Given the description of an element on the screen output the (x, y) to click on. 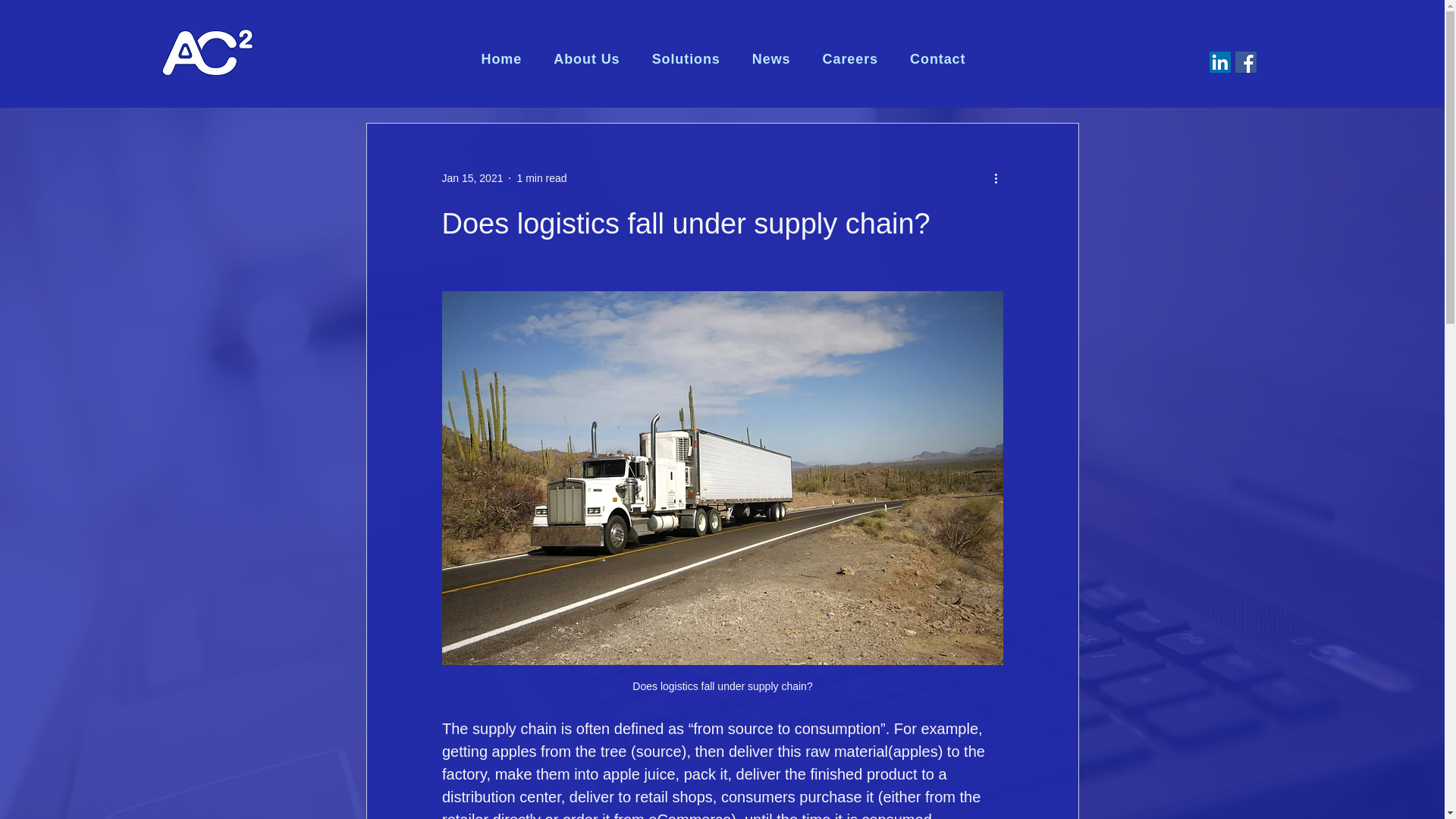
1 min read (541, 177)
Home (501, 58)
Careers (849, 58)
Contact (937, 58)
Jan 15, 2021 (471, 177)
